Given the description of an element on the screen output the (x, y) to click on. 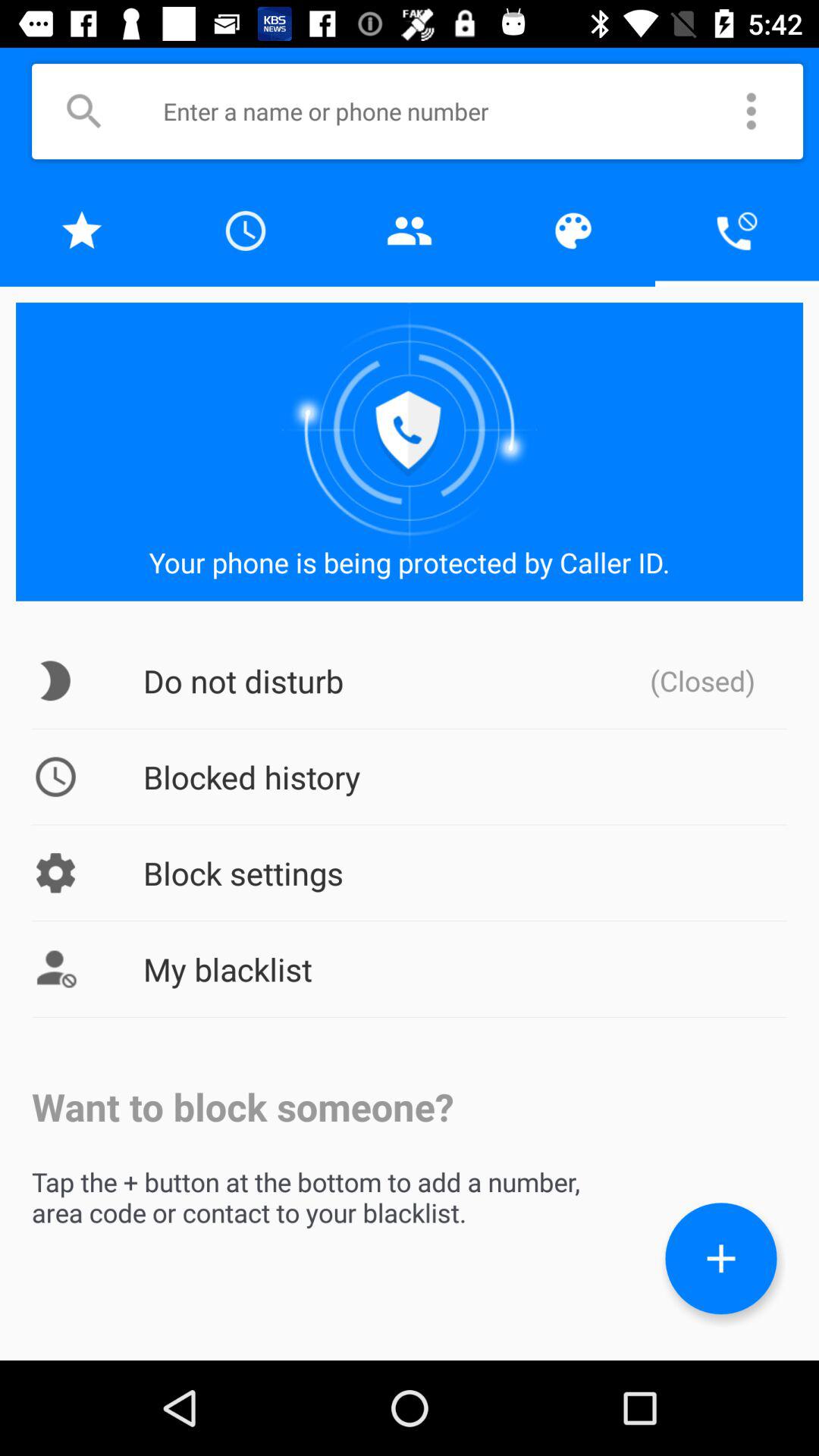
call (737, 230)
